Given the description of an element on the screen output the (x, y) to click on. 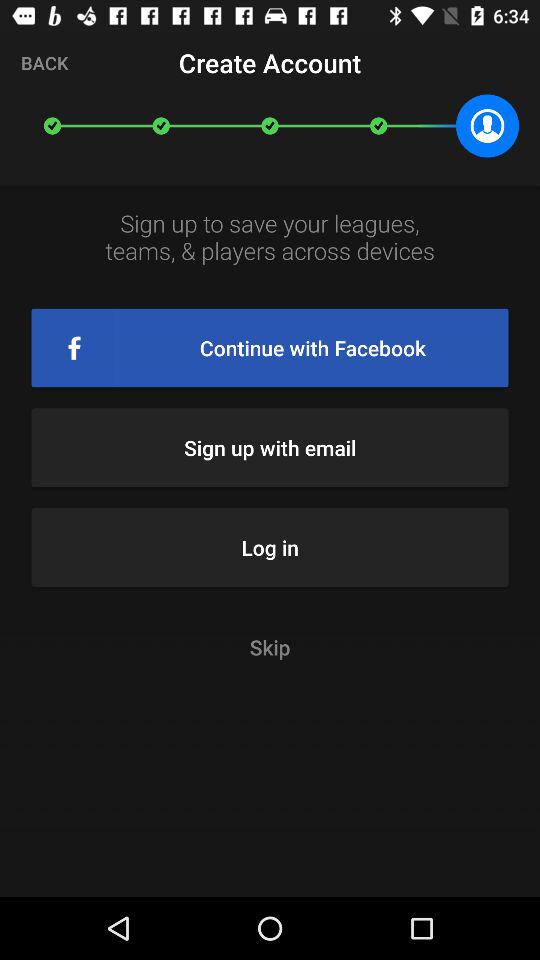
swipe until skip item (269, 646)
